Given the description of an element on the screen output the (x, y) to click on. 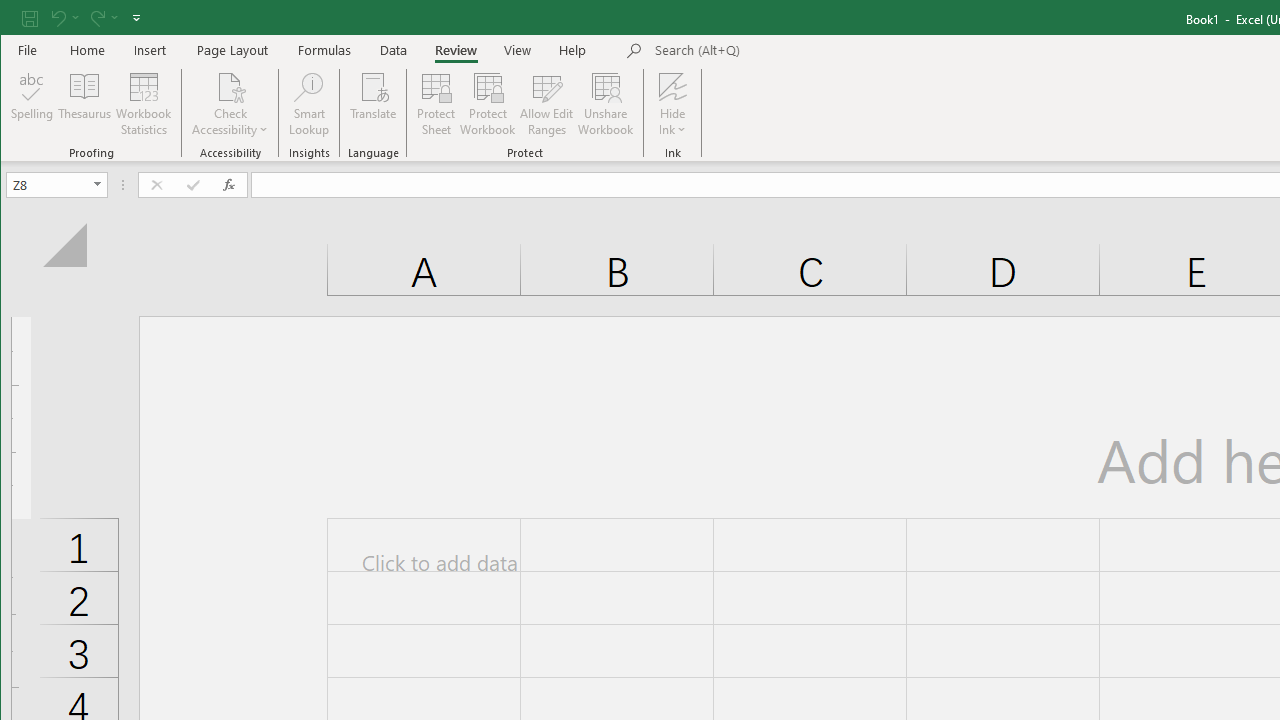
Customize Quick Access Toolbar (136, 17)
Open (98, 184)
Review (456, 50)
Check Accessibility (230, 86)
File Tab (28, 49)
Data (394, 50)
Formulas (325, 50)
Protect Workbook... (488, 104)
Insert (150, 50)
Spelling... (32, 104)
